Given the description of an element on the screen output the (x, y) to click on. 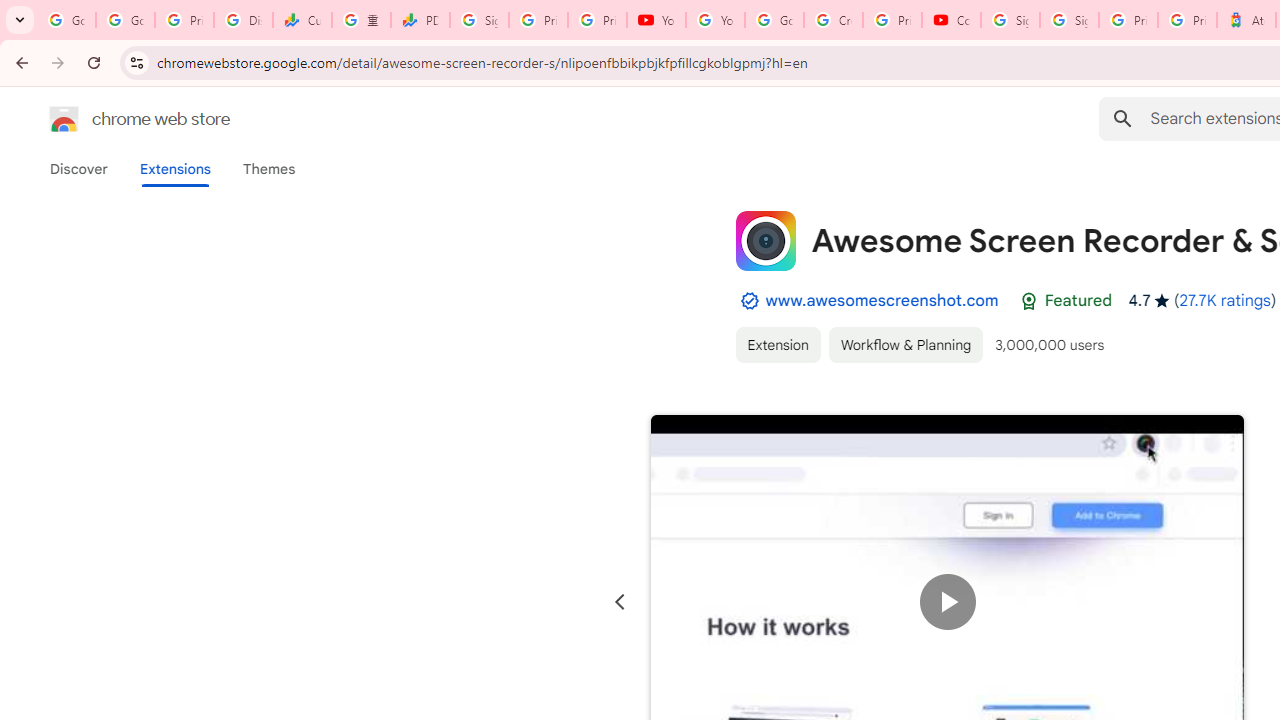
Create your Google Account (832, 20)
Currencies - Google Finance (301, 20)
Google Account Help (774, 20)
www.awesomescreenshot.com (881, 300)
Extensions (174, 169)
Privacy Checkup (597, 20)
Previous slide (619, 601)
Discover (79, 169)
Themes (269, 169)
